Given the description of an element on the screen output the (x, y) to click on. 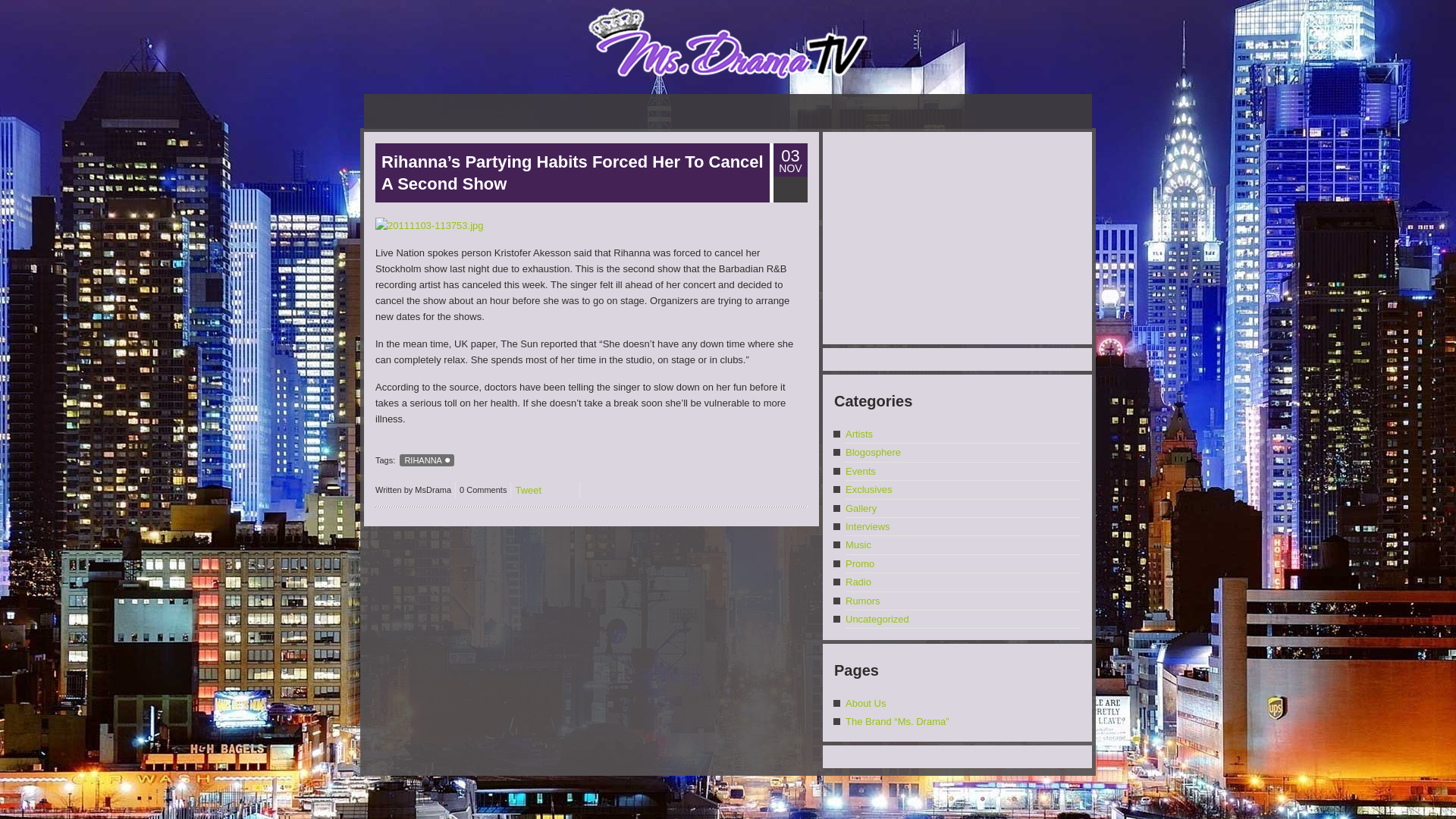
Tweet (528, 490)
Radio (857, 582)
Advertisement (956, 237)
Promo (860, 563)
Uncategorized (876, 618)
Blogosphere (873, 451)
Exclusives (868, 489)
Events (860, 471)
About Us (865, 703)
RIHANNA (426, 460)
